Given the description of an element on the screen output the (x, y) to click on. 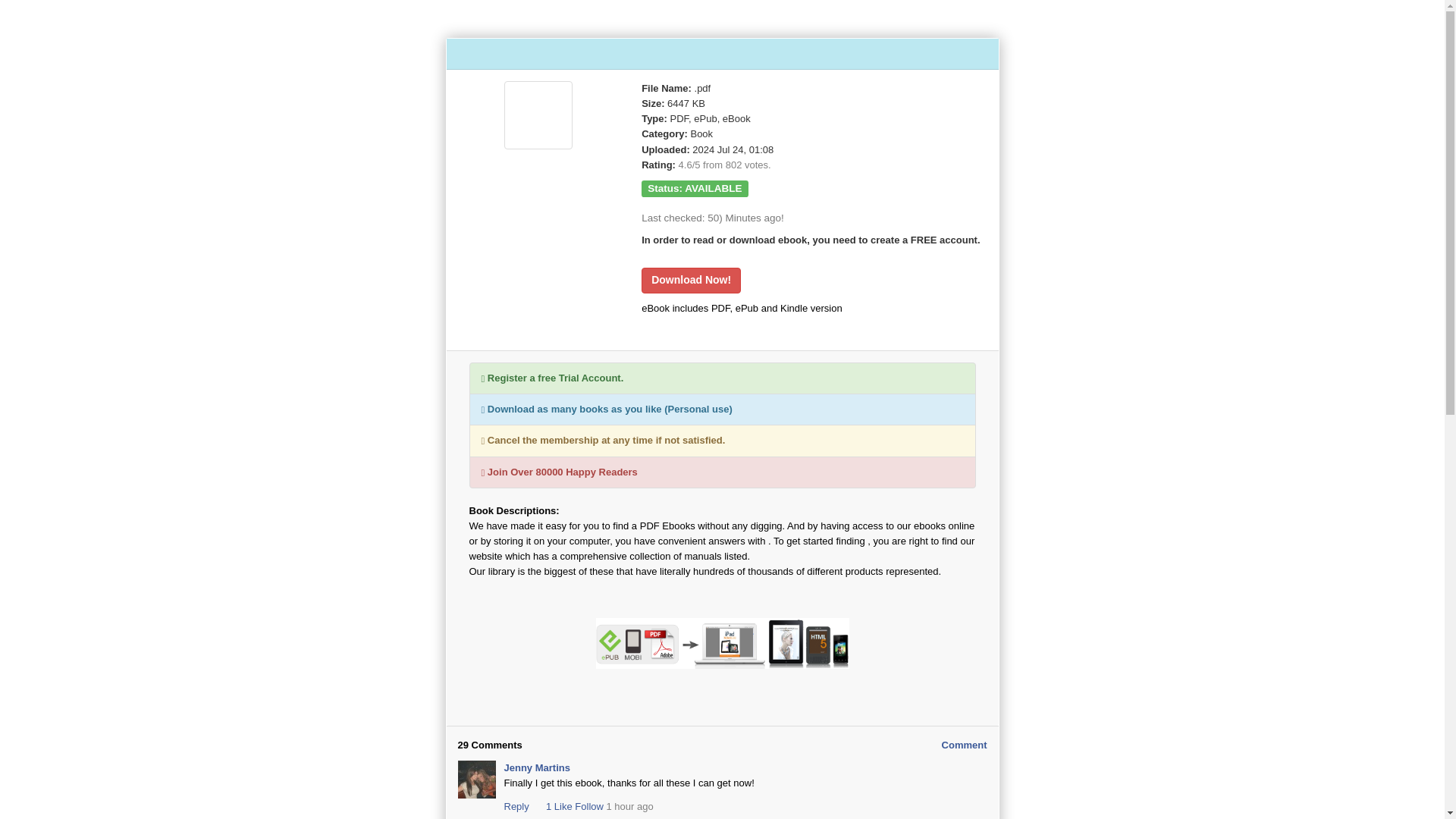
Cancel the membership at any time if not satisfied. (721, 440)
Join Over 80000 Happy Readers (721, 472)
1 (541, 806)
Download Now! (691, 280)
Like (563, 806)
Follow (589, 806)
Reply (515, 806)
Comment (964, 744)
Jenny Martins (536, 767)
Register a free Trial Account. (721, 377)
